Given the description of an element on the screen output the (x, y) to click on. 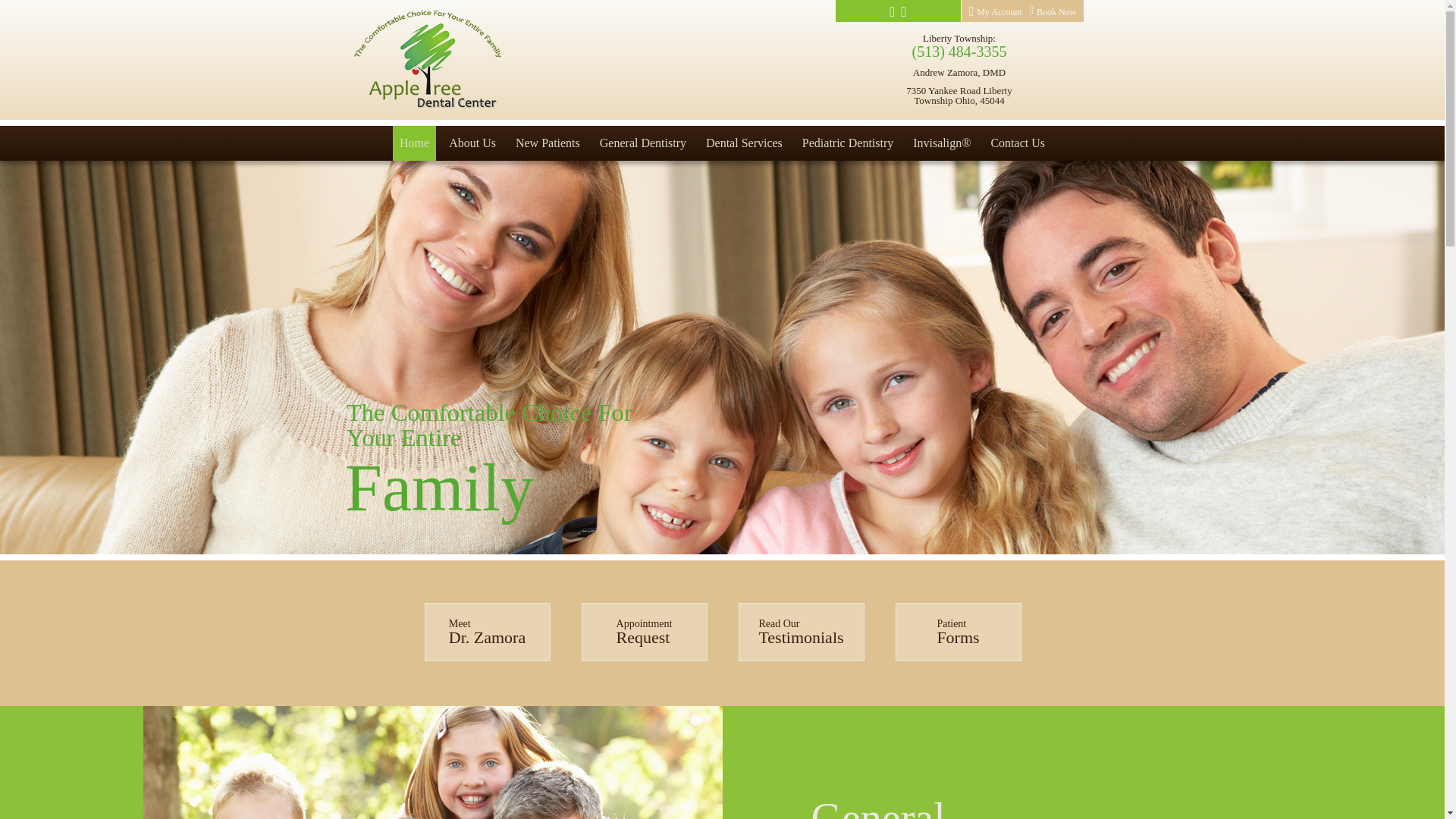
My Account (995, 12)
New Patients (547, 143)
About Us (472, 143)
General Dentistry (642, 143)
Dental Services (743, 143)
Home (414, 143)
 Book Now (1052, 11)
Liberty Township: (959, 38)
